Given the description of an element on the screen output the (x, y) to click on. 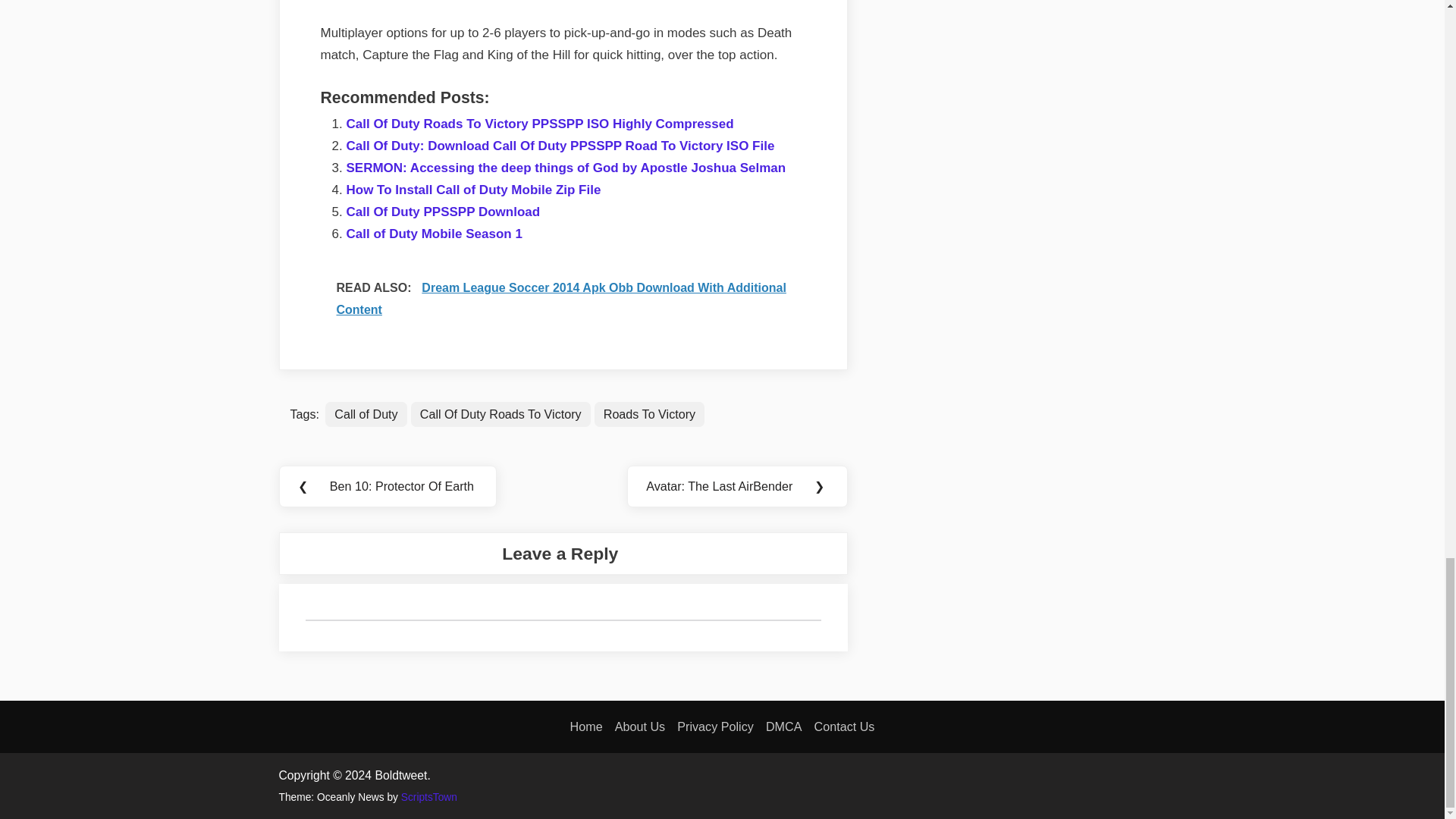
How To Install Call of Duty Mobile Zip File (472, 189)
Call of Duty Mobile Season 1 (433, 233)
Call Of Duty Roads To Victory PPSSPP ISO Highly Compressed (539, 124)
Call Of Duty PPSSPP Download (443, 211)
